Given the description of an element on the screen output the (x, y) to click on. 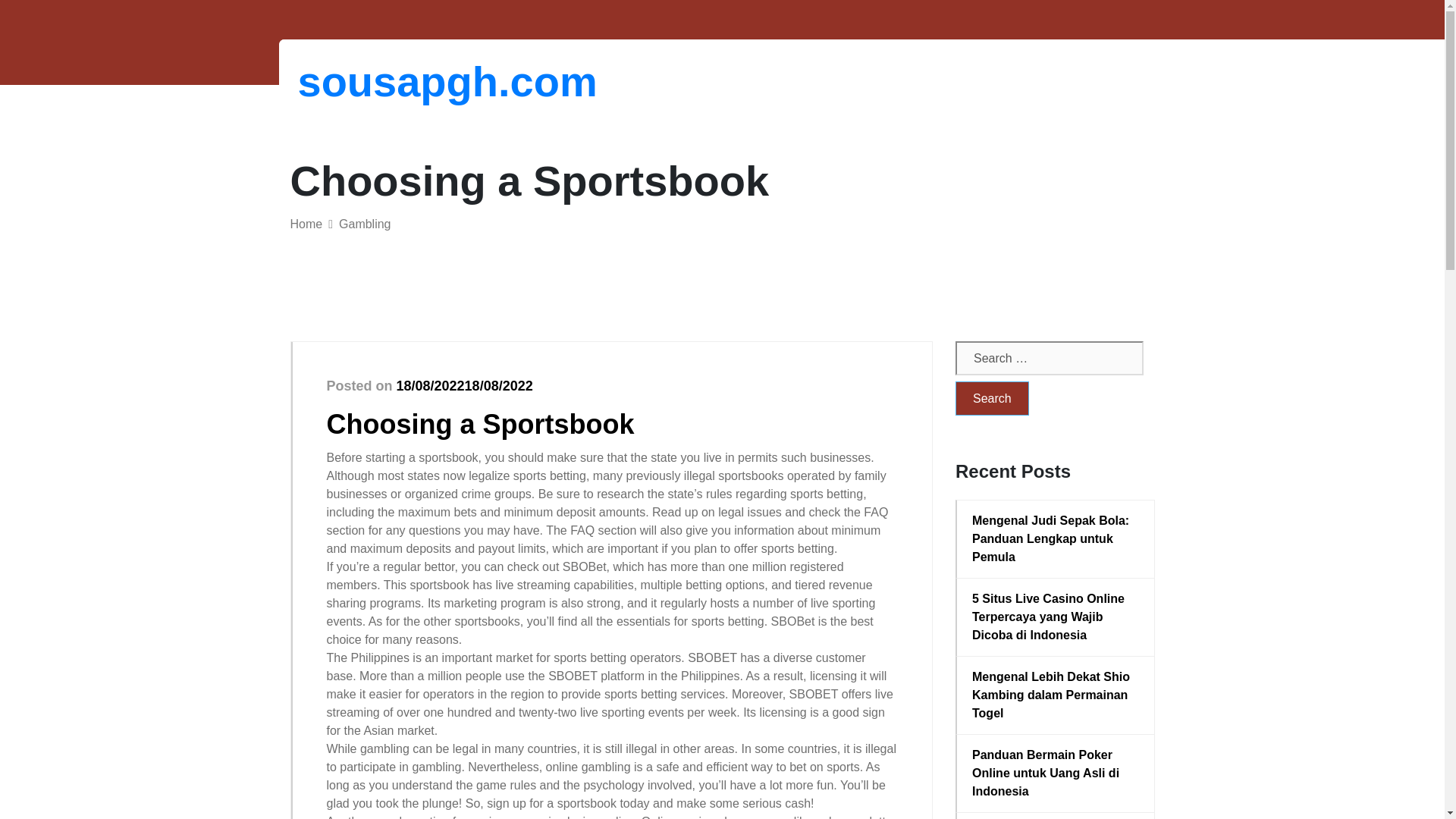
Search (992, 398)
Choosing a Sportsbook (479, 423)
Mengenal Judi Sepak Bola: Panduan Lengkap untuk Pemula (1055, 538)
Panduan Bermain Poker Online untuk Uang Asli di Indonesia (1055, 773)
Search (992, 398)
Gambling (364, 223)
Home (305, 223)
Search (992, 398)
Mengenal Lebih Dekat Shio Kambing dalam Permainan Togel (1055, 695)
